Given the description of an element on the screen output the (x, y) to click on. 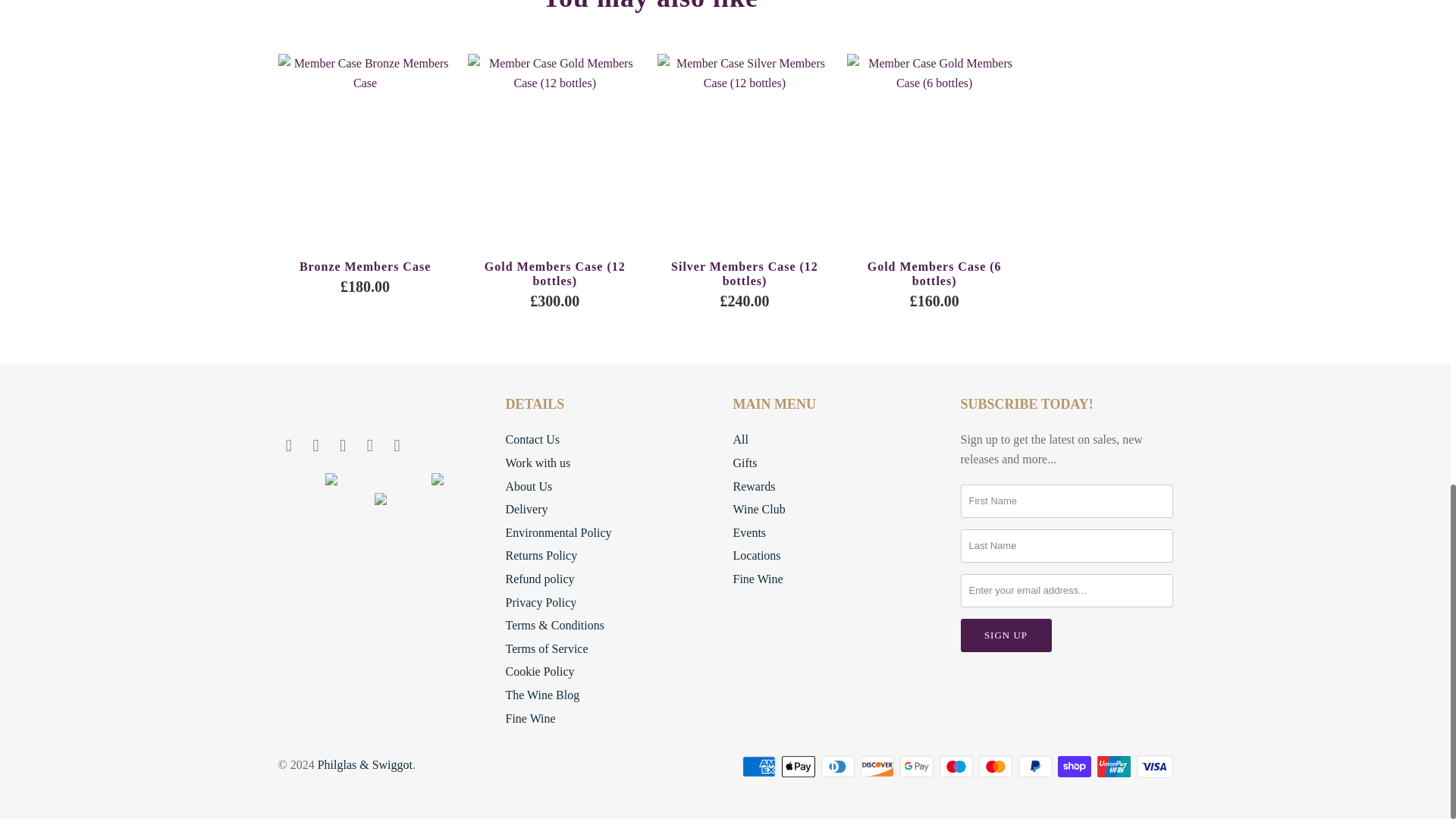
Discover (878, 766)
Apple Pay (798, 766)
Shop Pay (1075, 766)
Maestro (957, 766)
Union Pay (1114, 766)
PayPal (1035, 766)
Sign Up (1005, 635)
Visa (1153, 766)
Mastercard (996, 766)
Diners Club (839, 766)
